Given the description of an element on the screen output the (x, y) to click on. 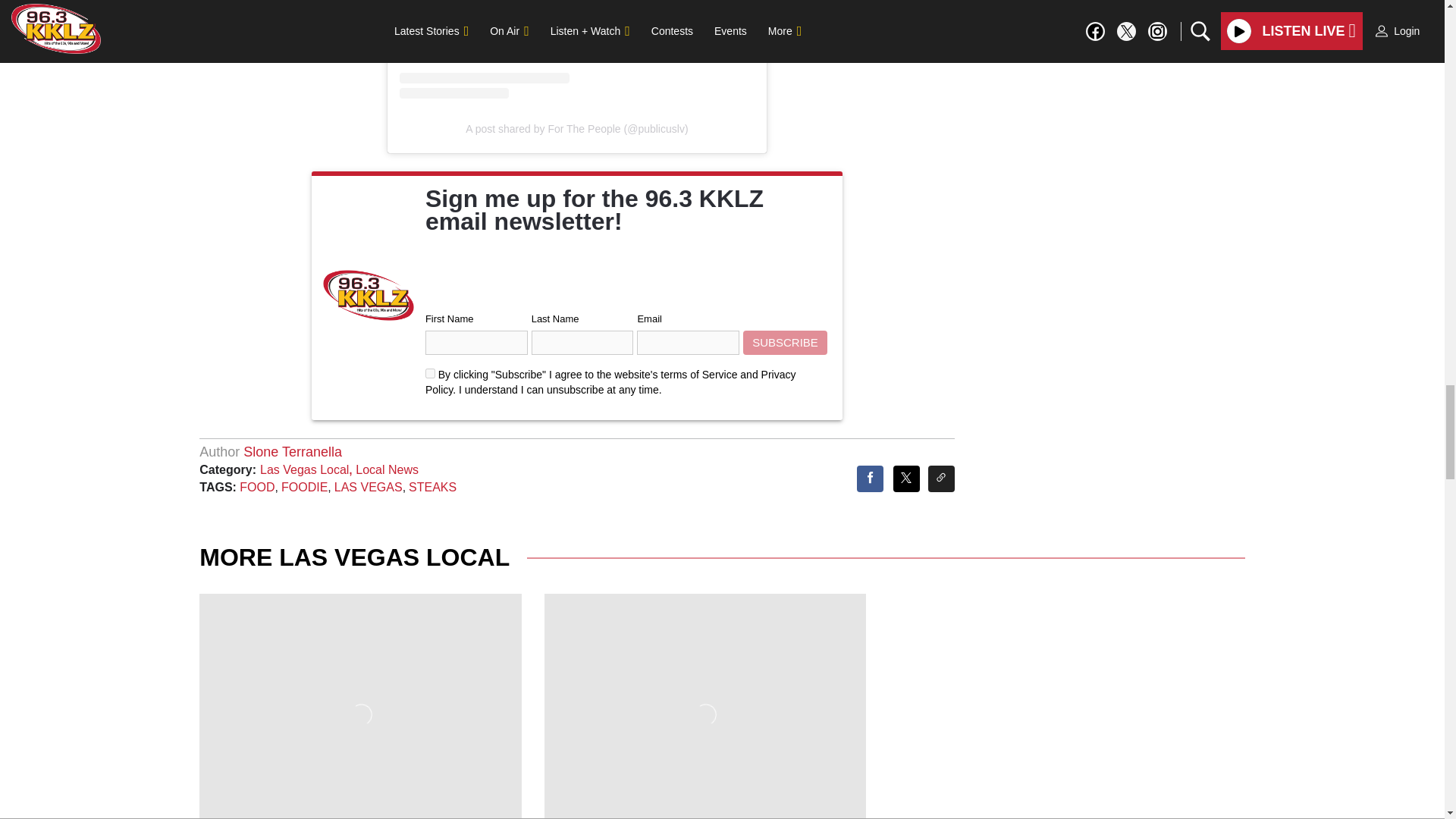
Slone Terranella (292, 451)
on (430, 373)
